Given the description of an element on the screen output the (x, y) to click on. 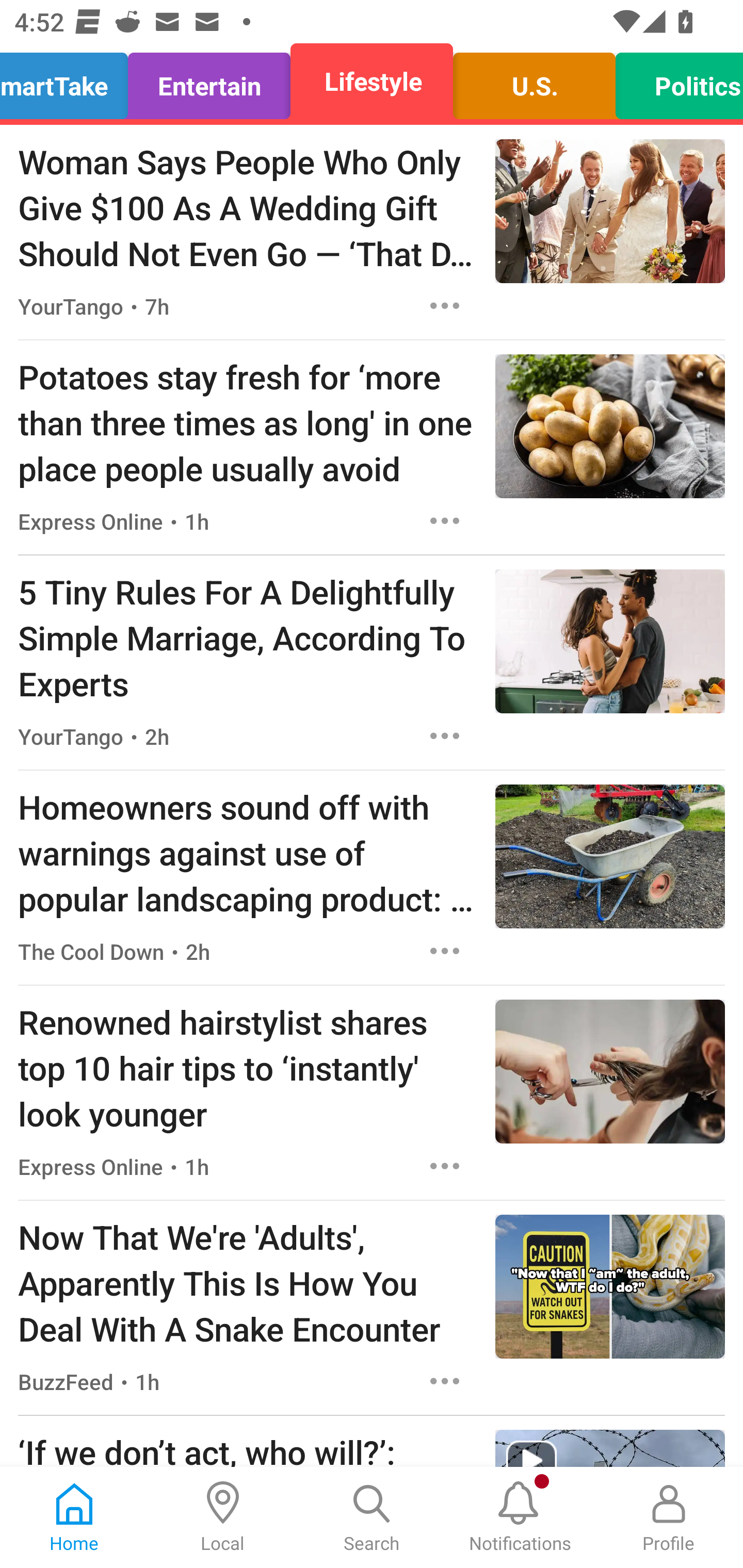
SmartTake (69, 81)
Entertain (209, 81)
Lifestyle (371, 81)
U.S. (534, 81)
Politics (673, 81)
Options (444, 305)
Options (444, 520)
Options (444, 736)
Options (444, 950)
Options (444, 1166)
Options (444, 1381)
Local (222, 1517)
Search (371, 1517)
Notifications, New notification Notifications (519, 1517)
Profile (668, 1517)
